Given the description of an element on the screen output the (x, y) to click on. 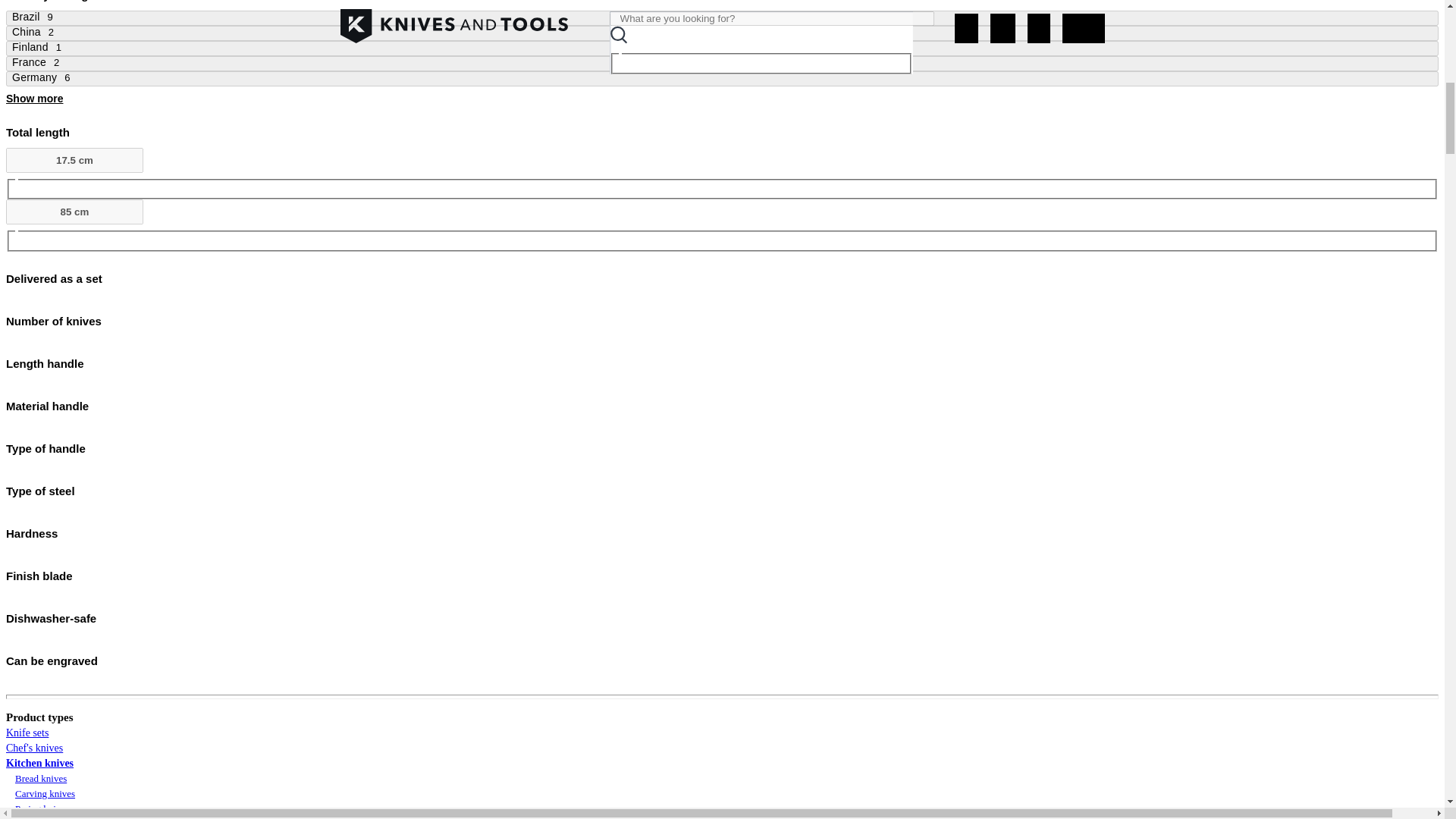
85 cm (73, 211)
17.5 cm (73, 159)
